Given the description of an element on the screen output the (x, y) to click on. 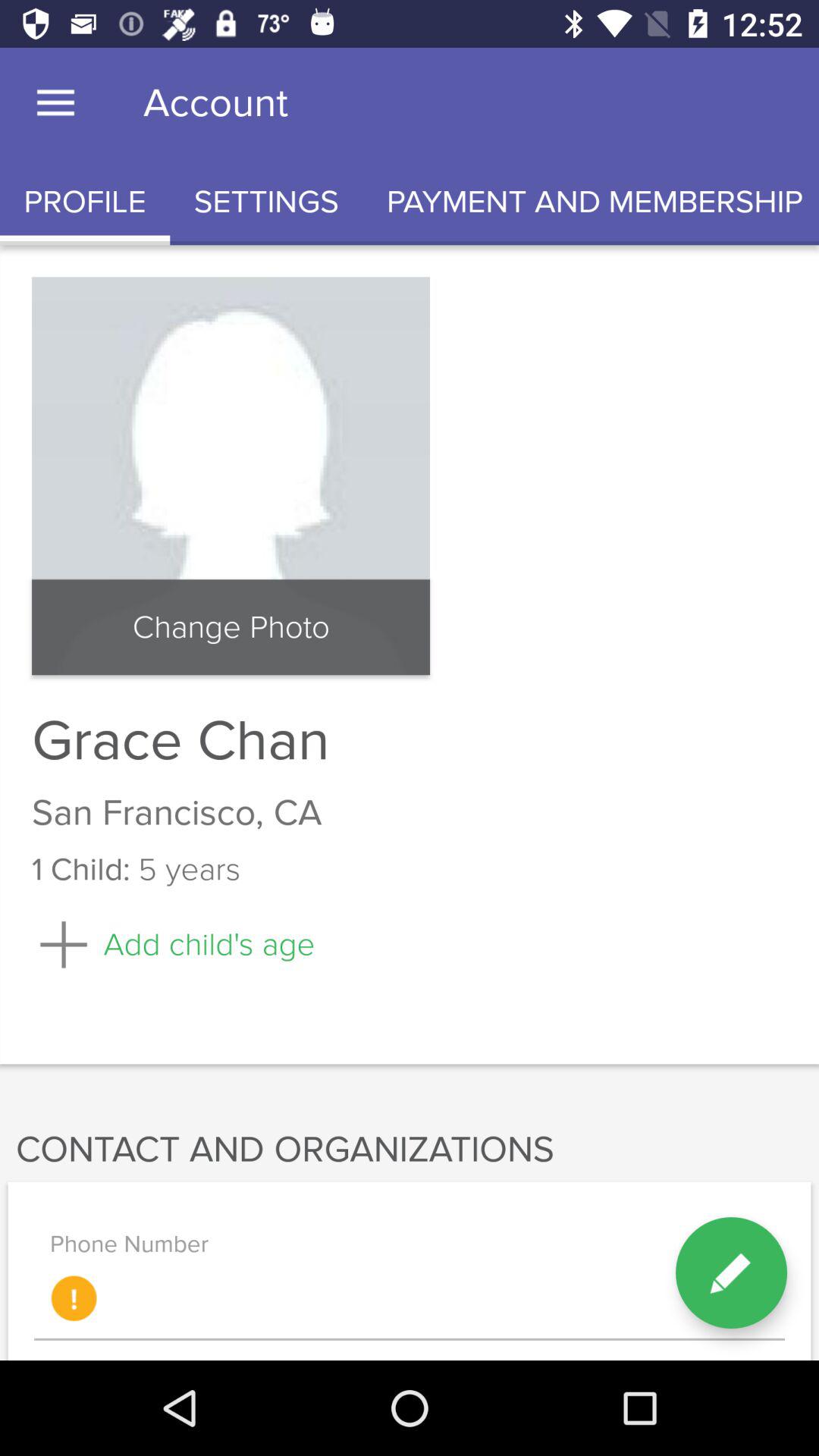
turn on the icon below 1 child: (173, 944)
